Given the description of an element on the screen output the (x, y) to click on. 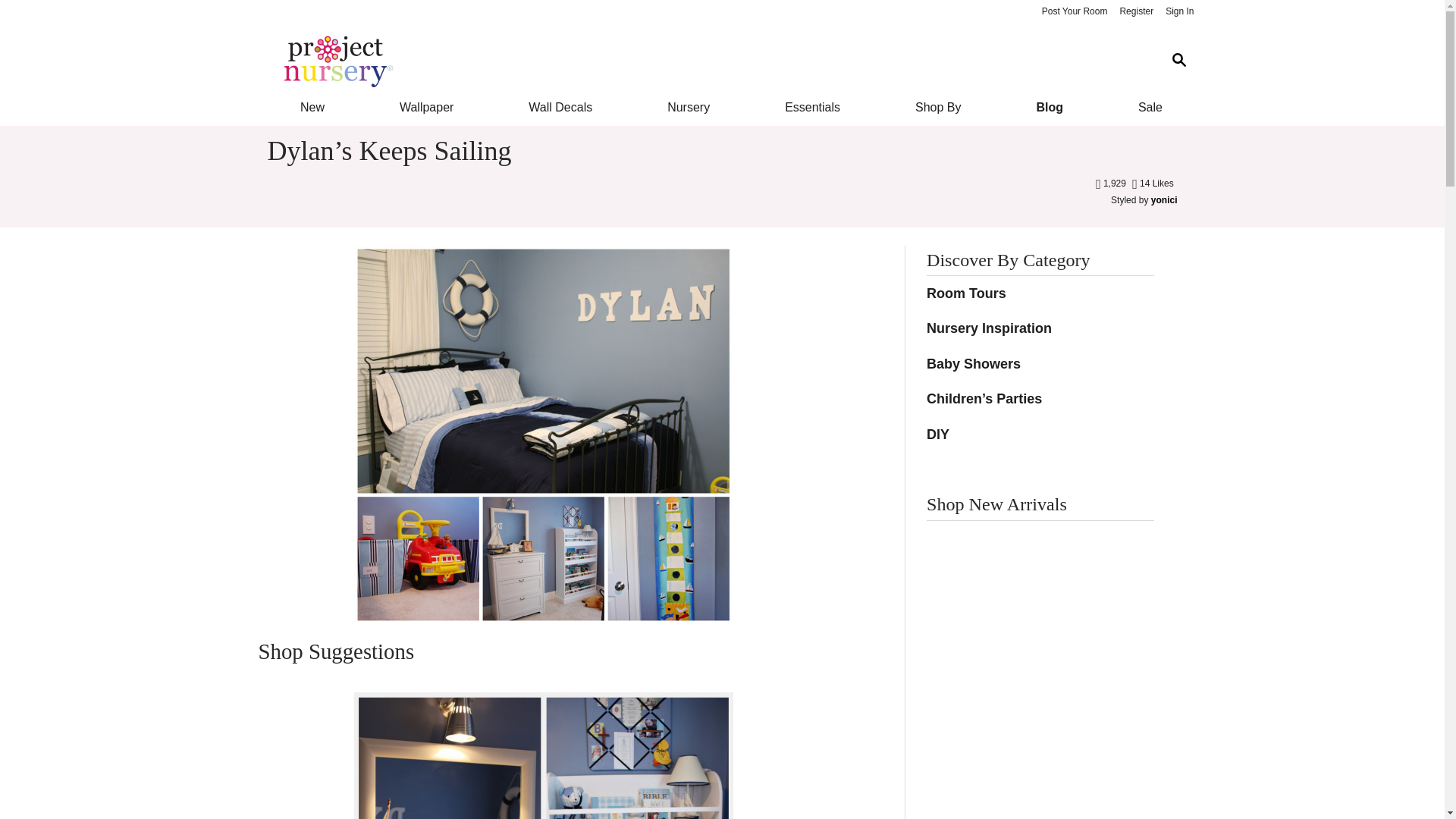
Project Nursery (709, 60)
New (311, 107)
Views (1112, 183)
Post Your Room (1074, 11)
Register (1135, 11)
Post Your Room (1074, 11)
Search (1178, 60)
Nursery (689, 107)
Wallpaper (425, 107)
Sign In (1178, 11)
